Given the description of an element on the screen output the (x, y) to click on. 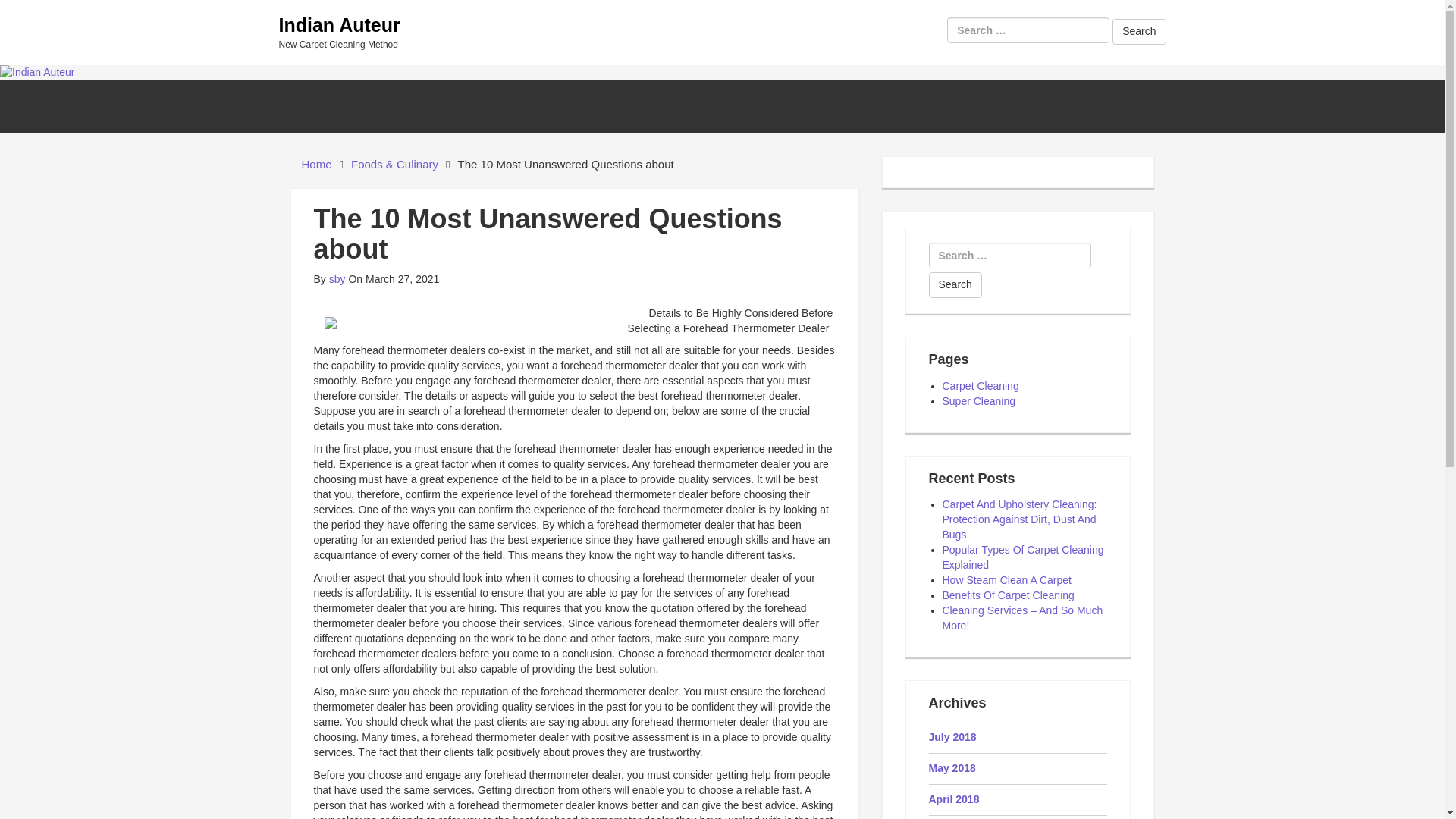
Search (954, 284)
Super Cleaning (978, 400)
Saturday, March 27, 2021, 9:43 am (393, 278)
How Steam Clean A Carpet (1006, 580)
Indian Auteur (37, 71)
Search (954, 284)
Search (954, 284)
April 2018 (953, 799)
Posts by sby (337, 278)
